Given the description of an element on the screen output the (x, y) to click on. 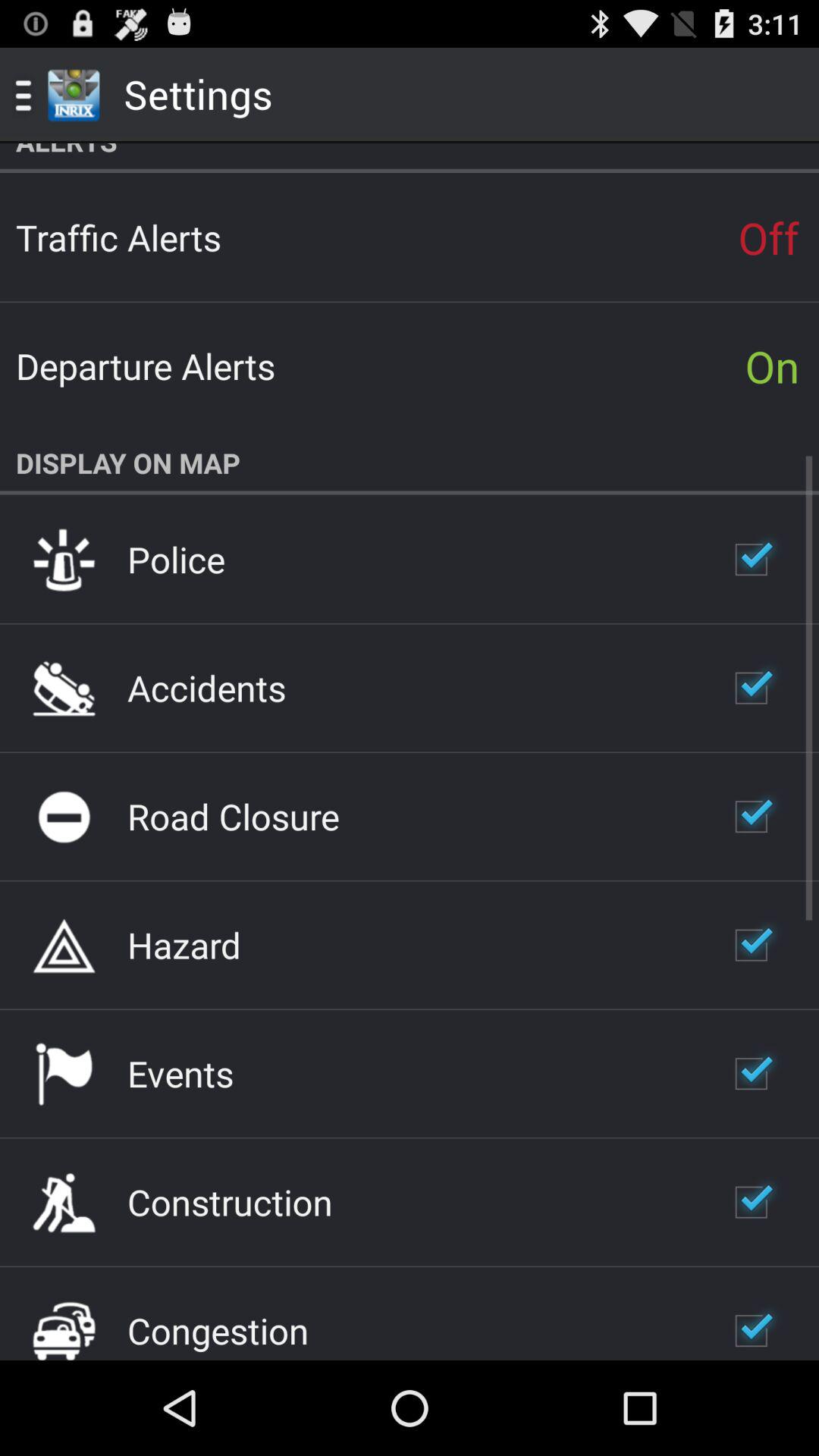
swipe until congestion item (217, 1330)
